Given the description of an element on the screen output the (x, y) to click on. 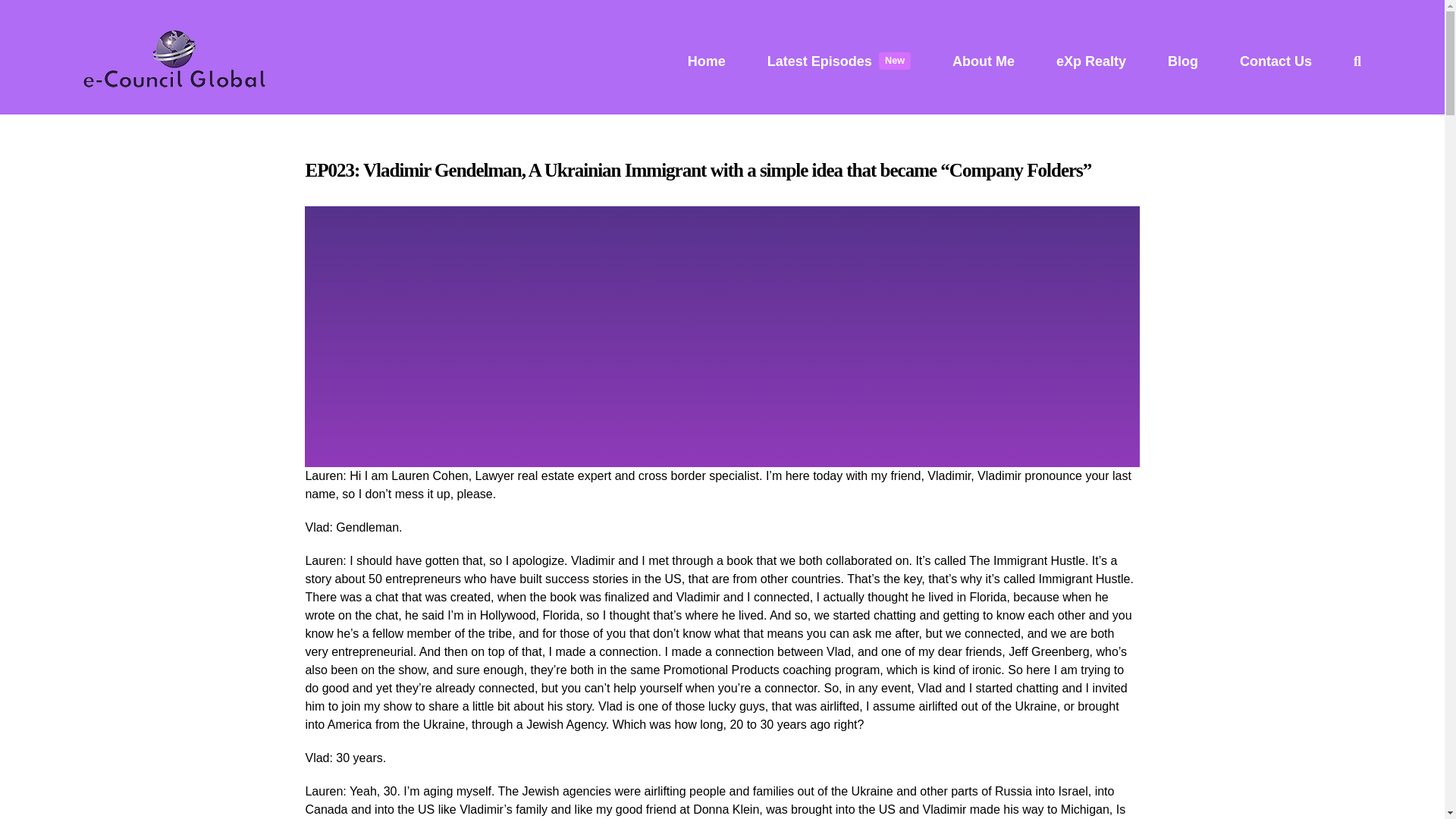
Home (706, 60)
Contact Us (1275, 60)
Search (1357, 60)
Blog (1182, 60)
About Me (983, 60)
eXp Realty (839, 60)
